Given the description of an element on the screen output the (x, y) to click on. 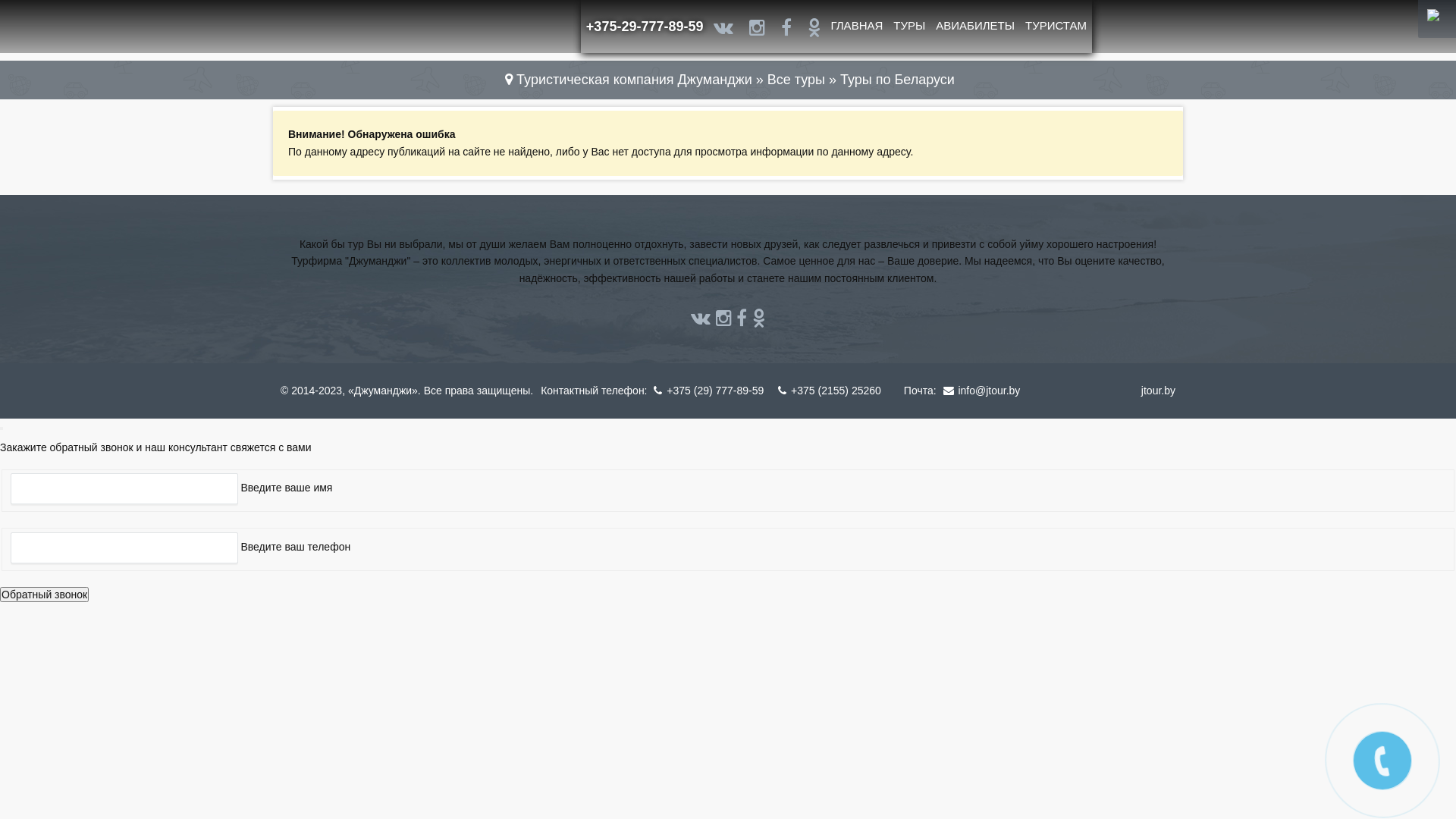
jtour.by Element type: text (1158, 390)
+375-29-777-89-59 Element type: text (644, 26)
